Given the description of an element on the screen output the (x, y) to click on. 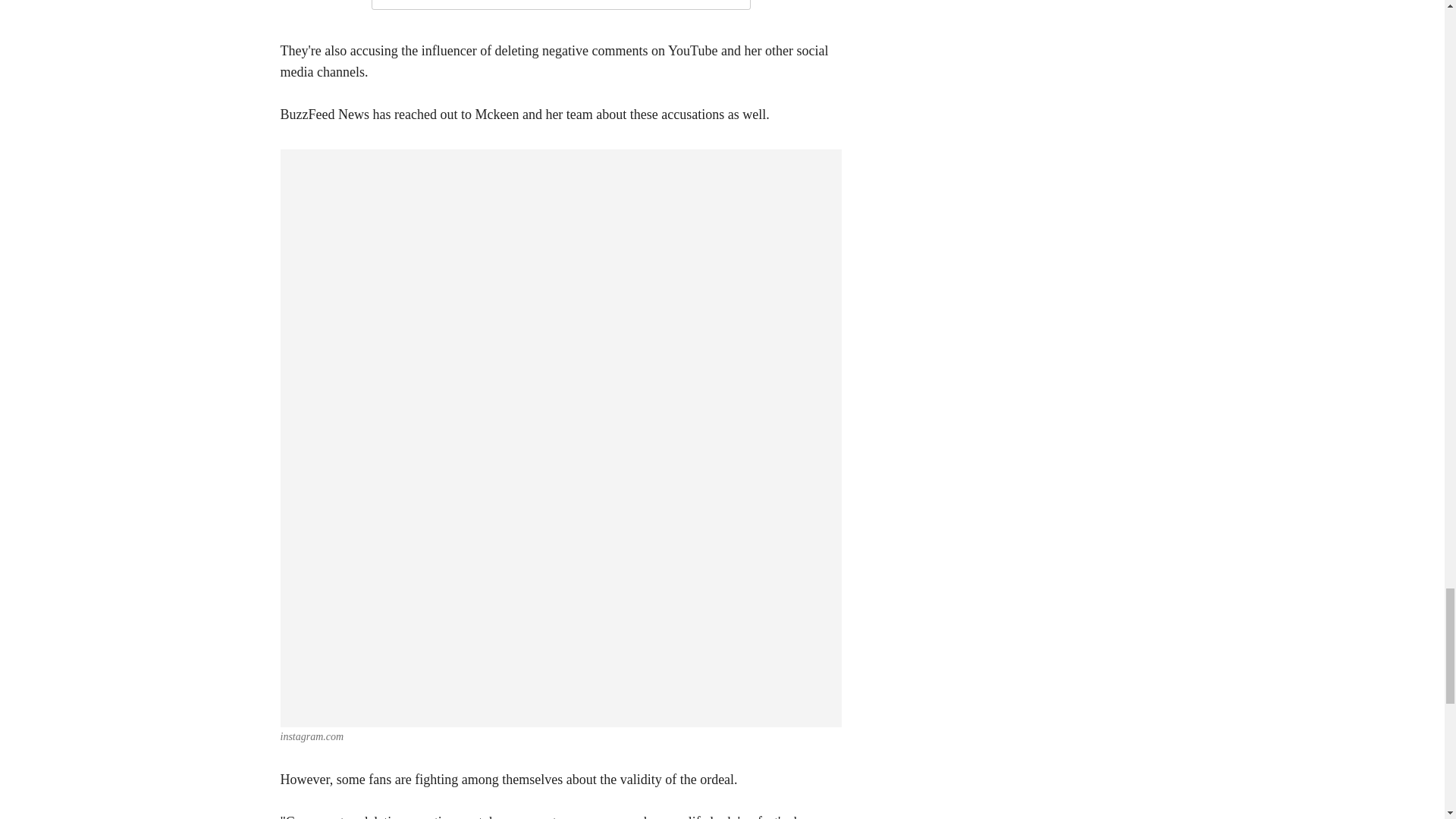
instagram.com (312, 736)
